Given the description of an element on the screen output the (x, y) to click on. 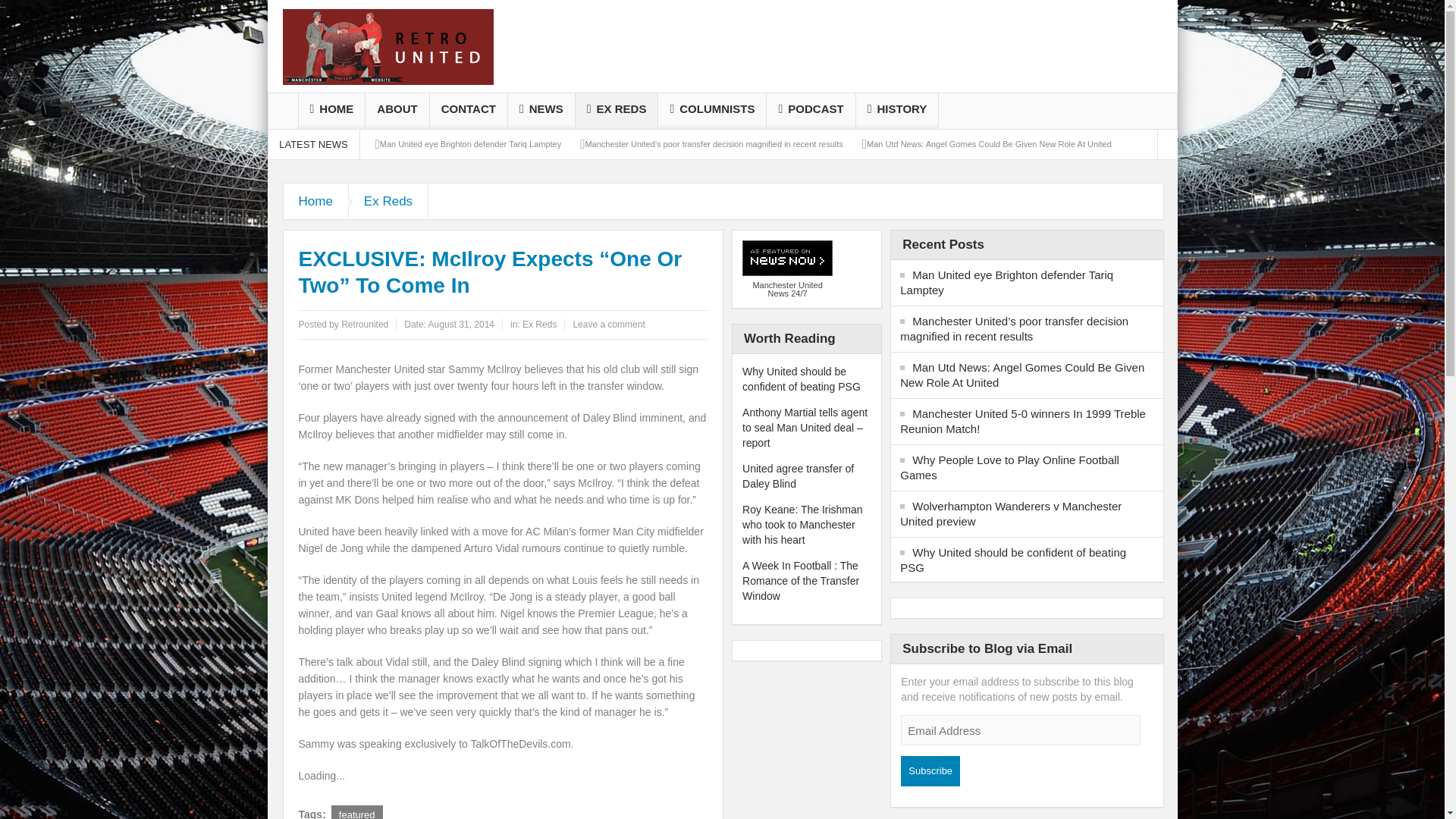
HOME (331, 110)
Ex Reds (388, 201)
HISTORY (897, 110)
EX REDS (616, 110)
NEWS (541, 110)
COLUMNISTS (711, 110)
ABOUT (396, 110)
CONTACT (467, 110)
Man Utd News: Angel Gomes Could Be Given New Role At United (989, 143)
Manchester United News (387, 46)
